Given the description of an element on the screen output the (x, y) to click on. 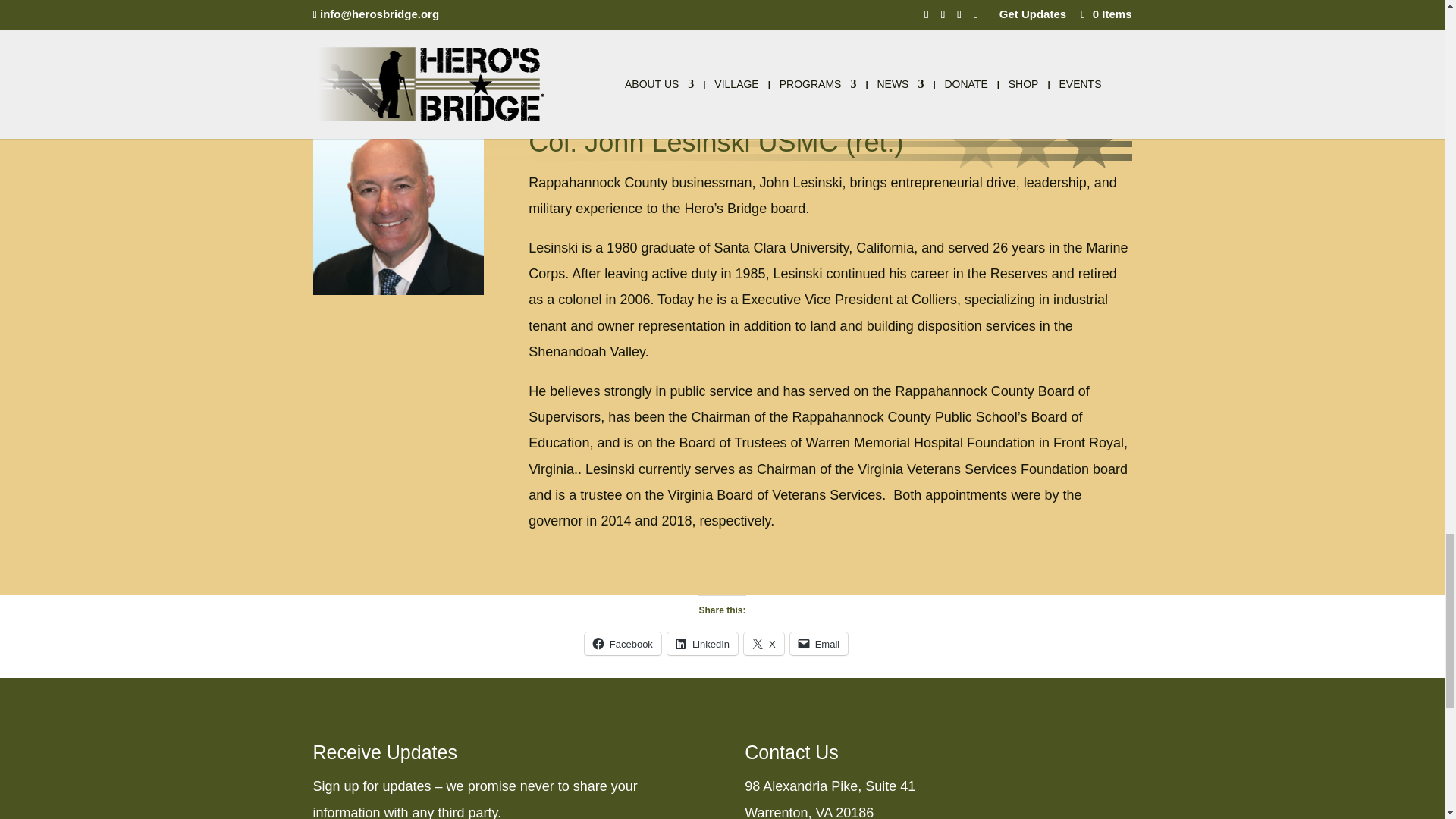
Click to share on X (764, 643)
Click to share on Facebook (623, 643)
Click to share on LinkedIn (702, 643)
John Lesinski (398, 208)
Click to email a link to a friend (819, 643)
